Given the description of an element on the screen output the (x, y) to click on. 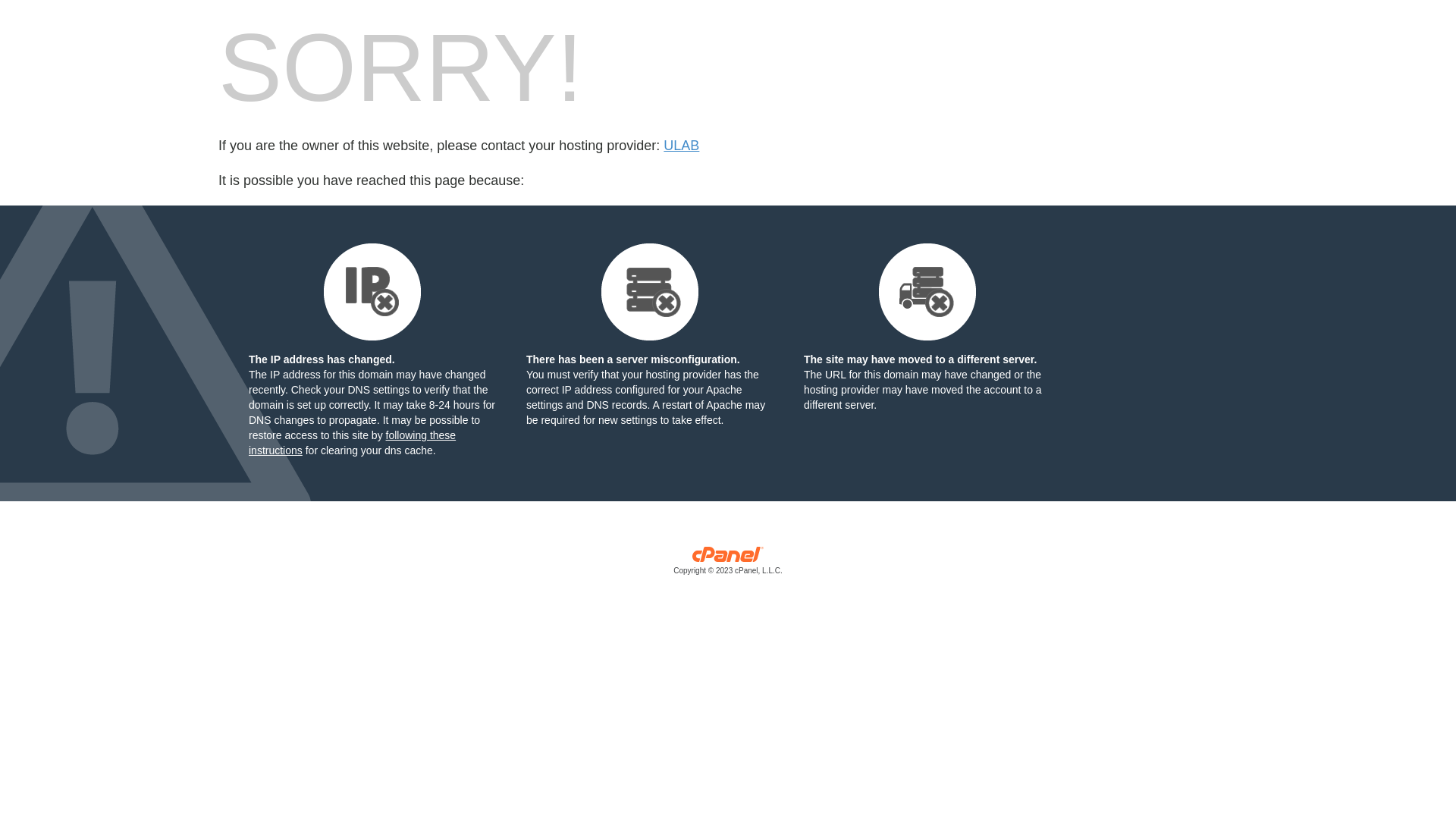
following these instructions Element type: text (351, 442)
ULAB Element type: text (681, 145)
